Given the description of an element on the screen output the (x, y) to click on. 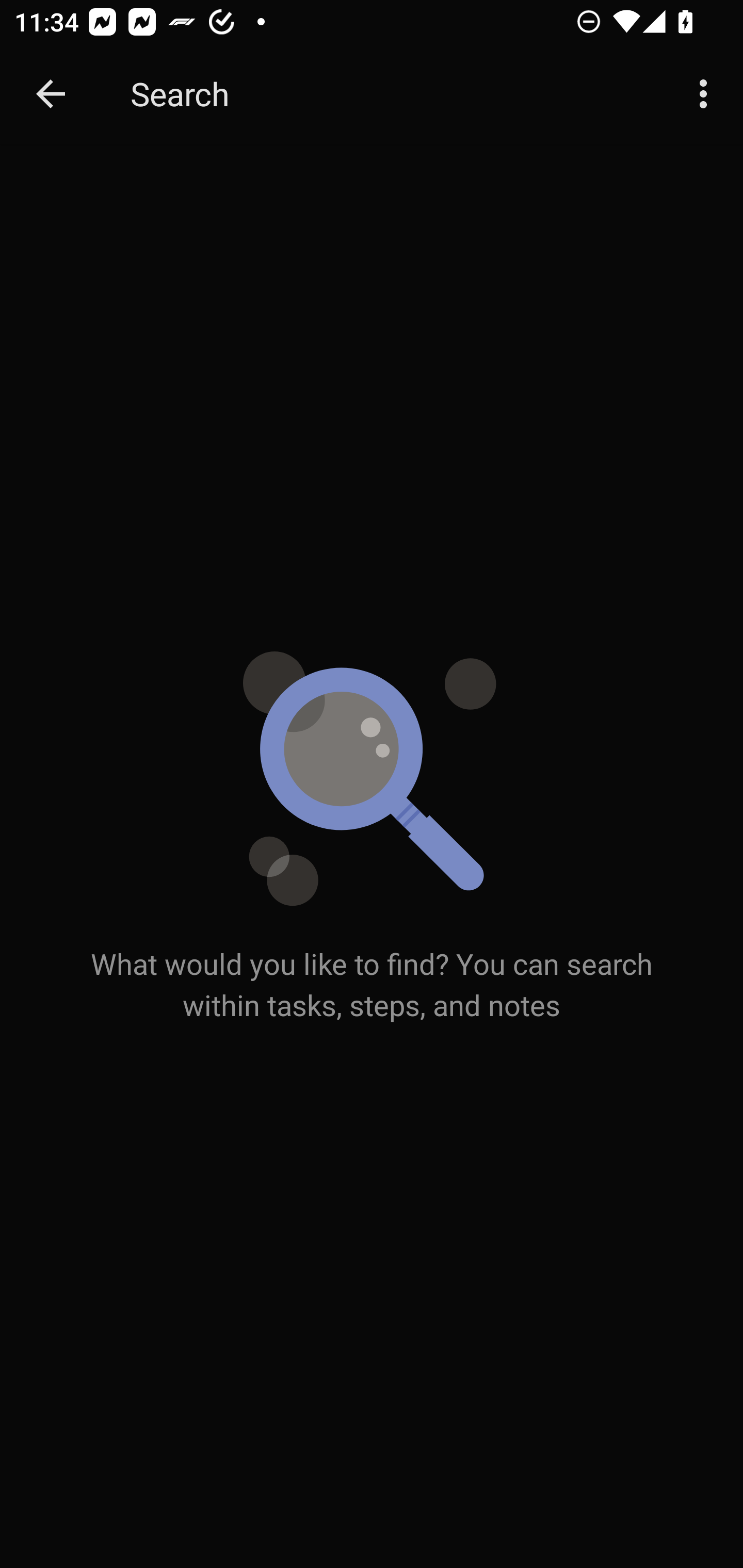
Navigate up (50, 93)
More options (706, 93)
Search (393, 94)
